Given the description of an element on the screen output the (x, y) to click on. 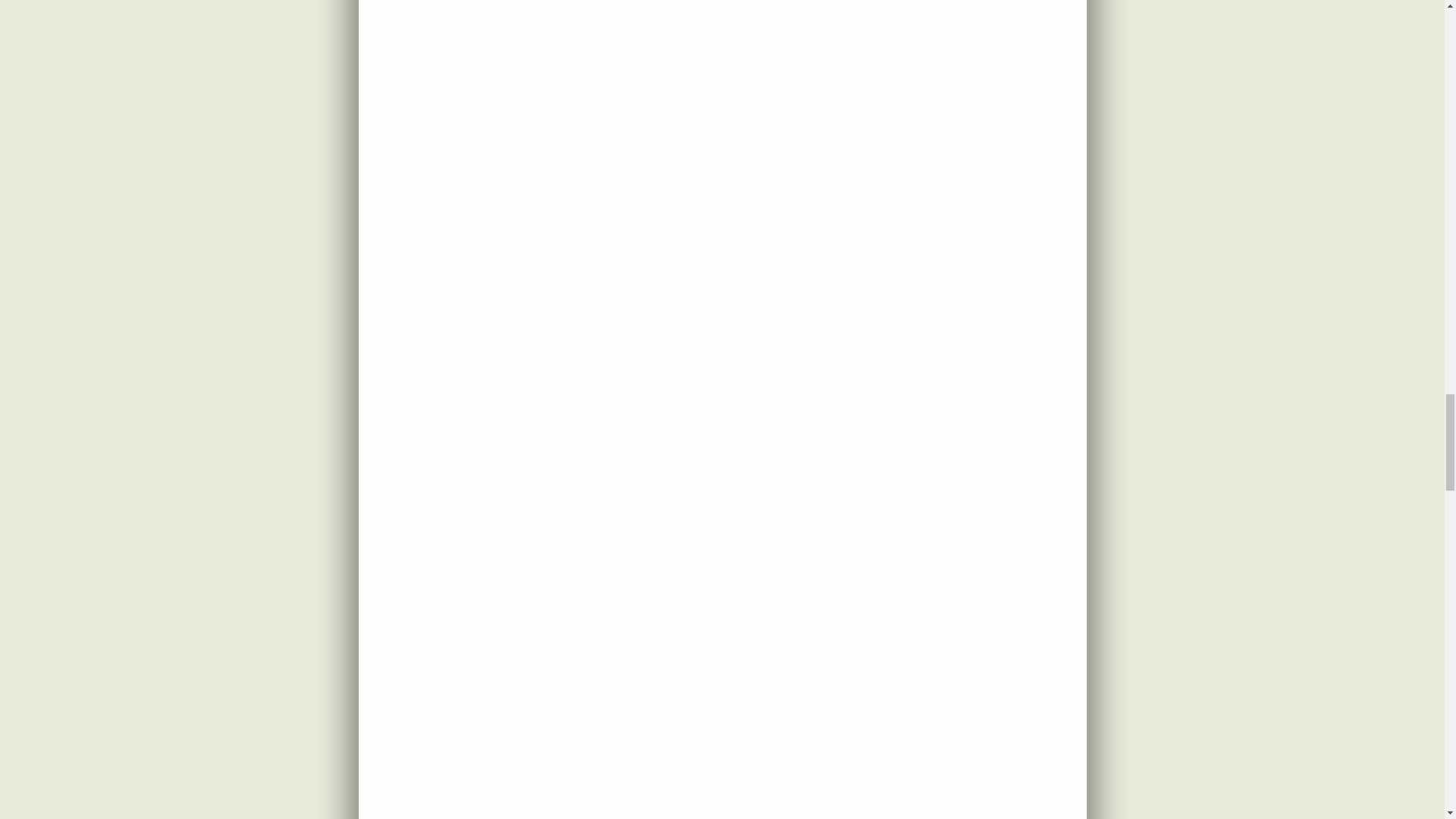
Washington DC Bride49 (722, 156)
Washington DC Bride65 (722, 806)
